Given the description of an element on the screen output the (x, y) to click on. 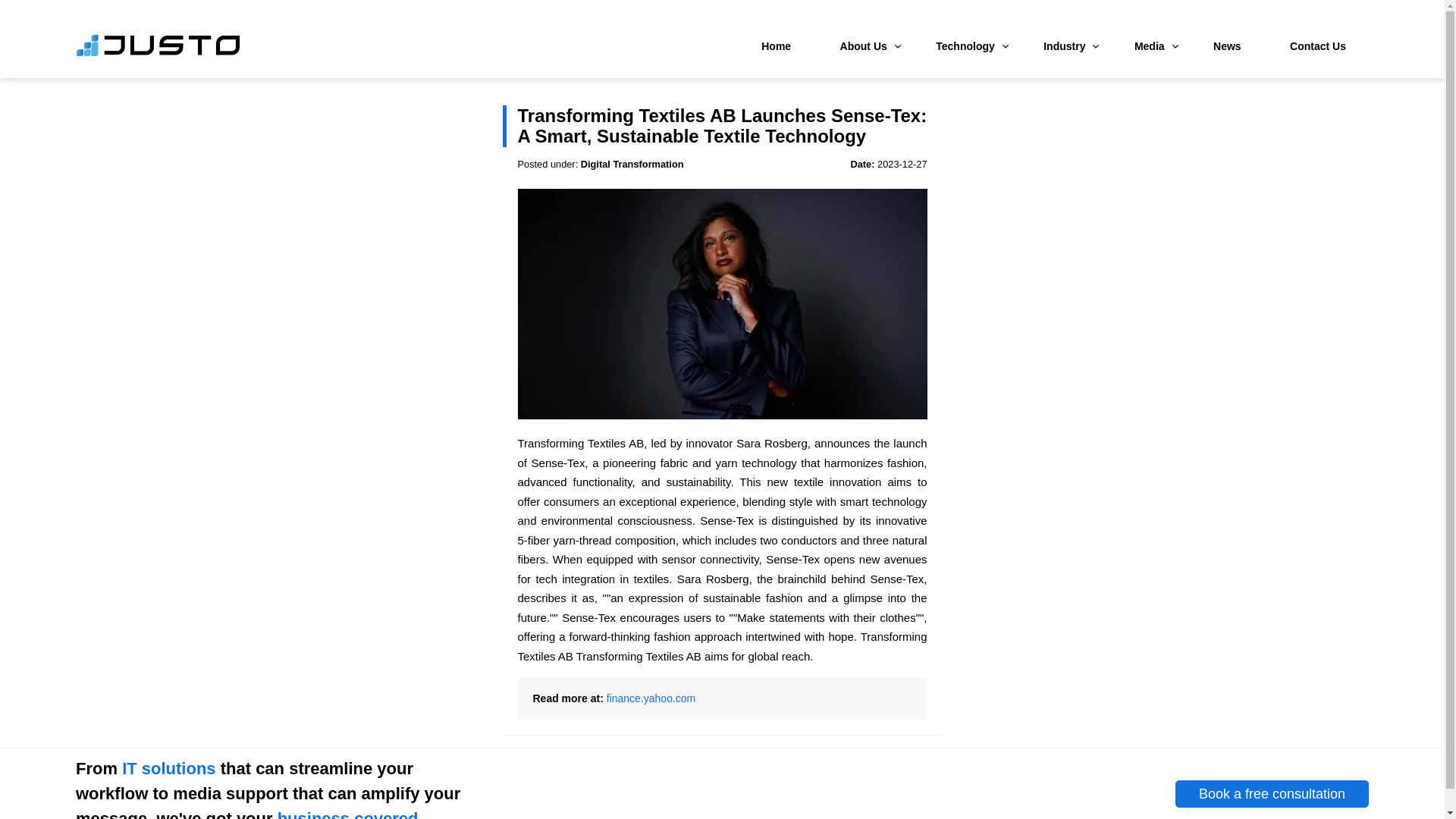
Media (1149, 45)
Home (775, 45)
About Us (863, 45)
Industry (1064, 45)
finance.yahoo.com (651, 698)
Justo (158, 53)
Book a free consultation (1271, 794)
Contact Us (1318, 45)
News (1227, 45)
Technology (965, 45)
